Given the description of an element on the screen output the (x, y) to click on. 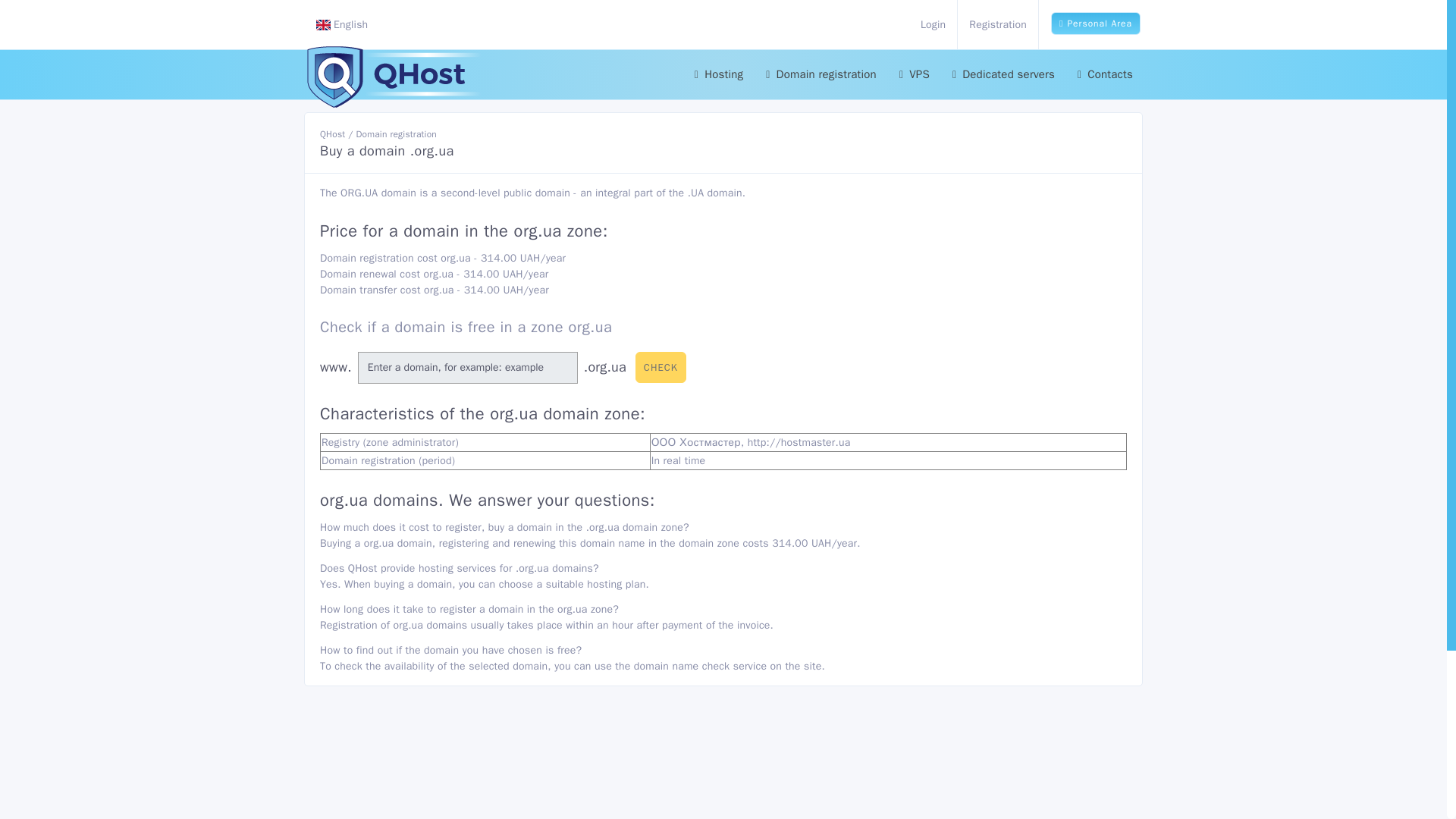
Contacts (1104, 74)
Check if a domain is free in a zone org.ua (465, 326)
Dedicated servers (1002, 74)
Personal Area (1095, 23)
Registration (998, 24)
Domain registration (395, 133)
Domain registration (821, 74)
CHECK (659, 368)
English (343, 24)
VPS (914, 74)
